Given the description of an element on the screen output the (x, y) to click on. 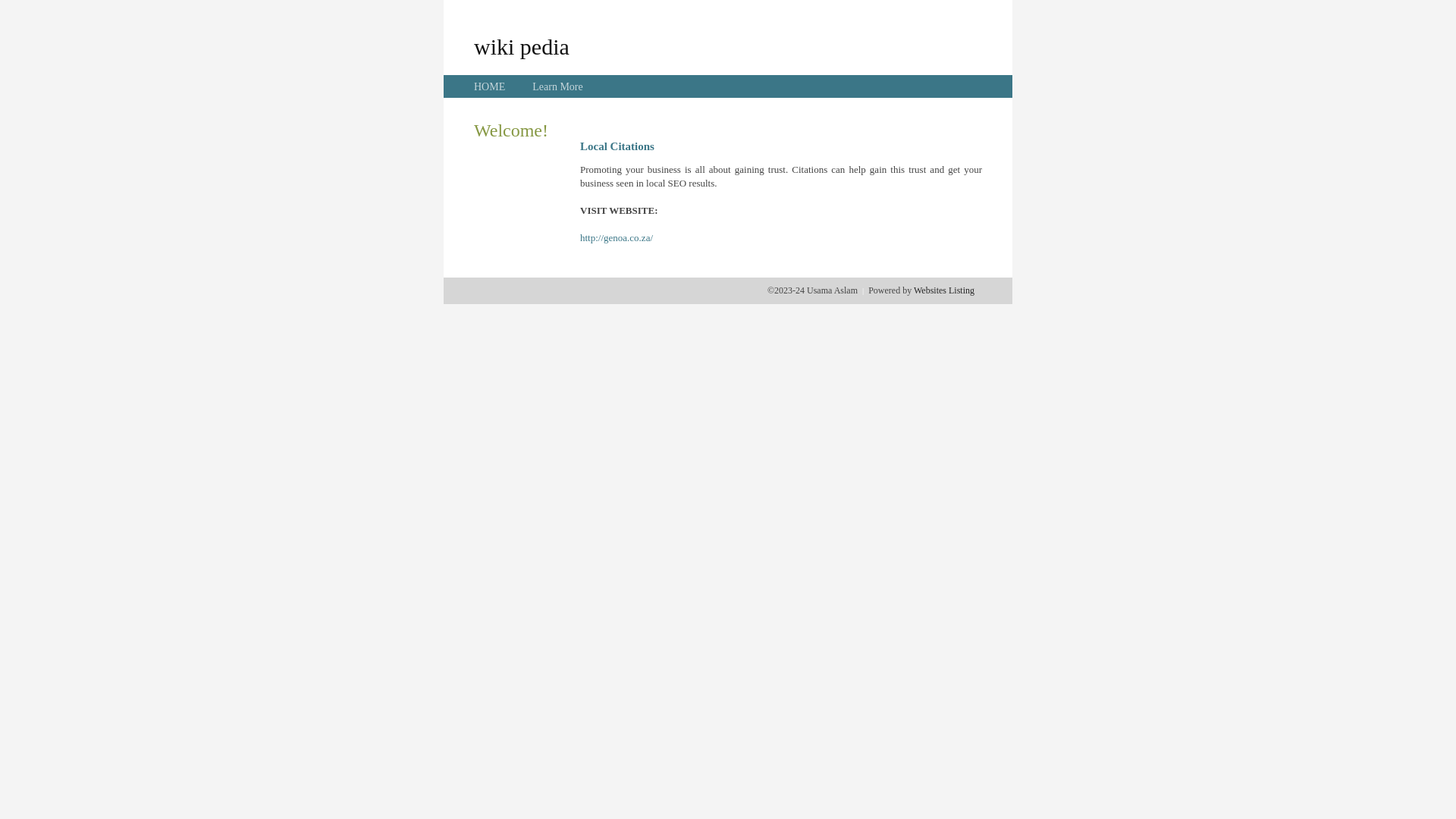
HOME Element type: text (489, 86)
wiki pedia Element type: text (521, 46)
Learn More Element type: text (557, 86)
Websites Listing Element type: text (943, 290)
http://genoa.co.za/ Element type: text (616, 237)
